Given the description of an element on the screen output the (x, y) to click on. 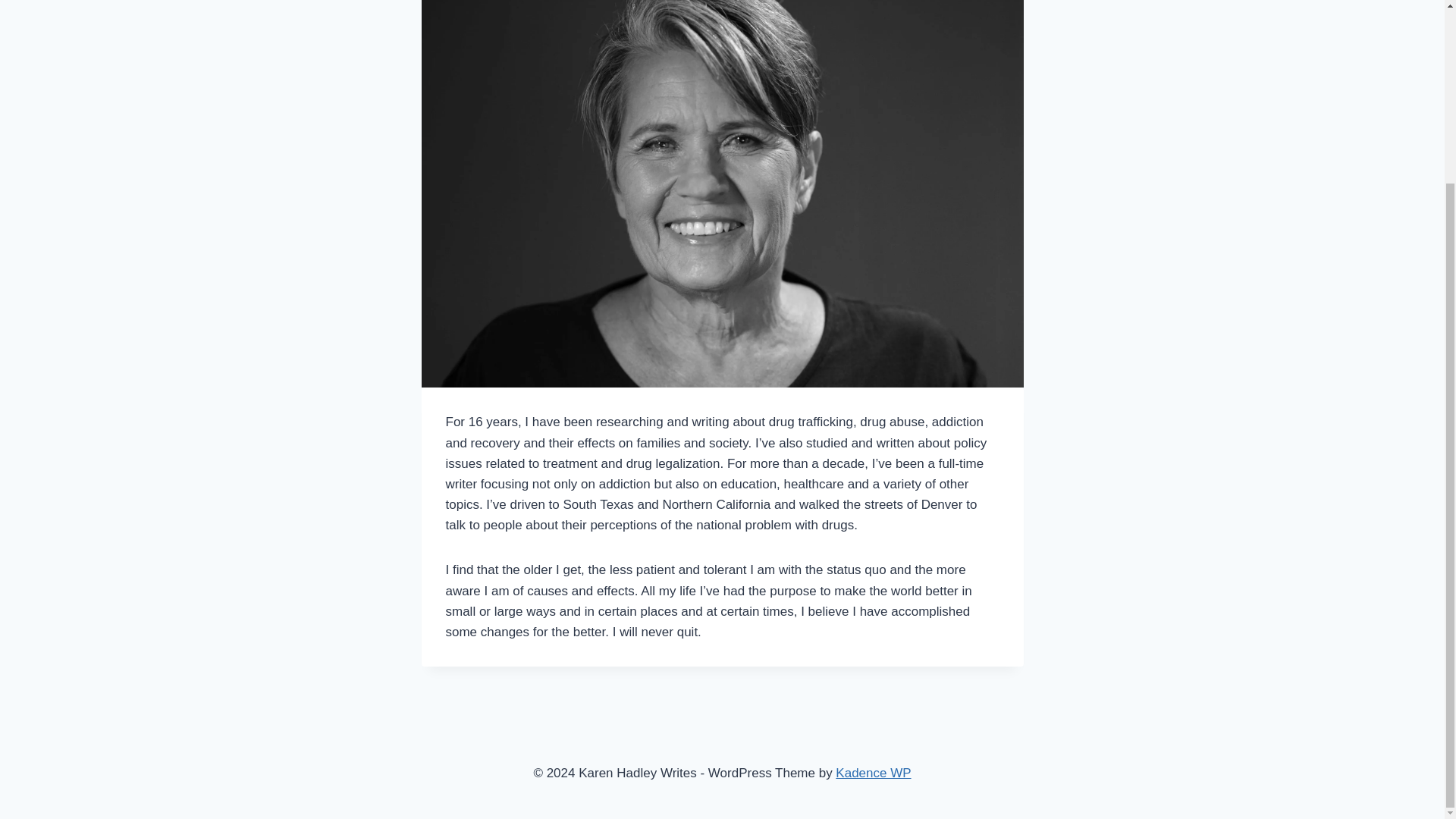
Kadence WP (873, 772)
